Given the description of an element on the screen output the (x, y) to click on. 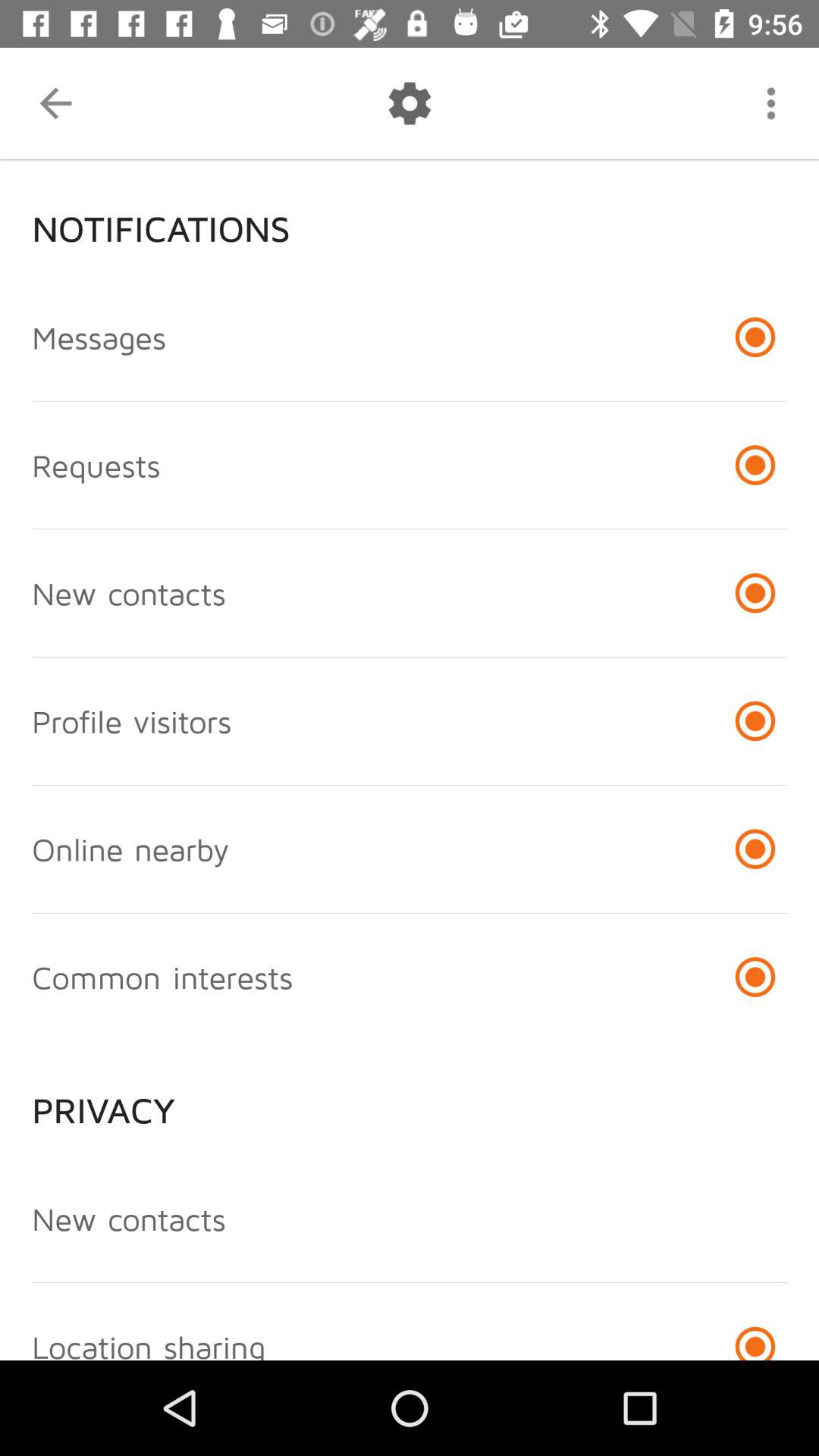
launch profile visitors (131, 720)
